Given the description of an element on the screen output the (x, y) to click on. 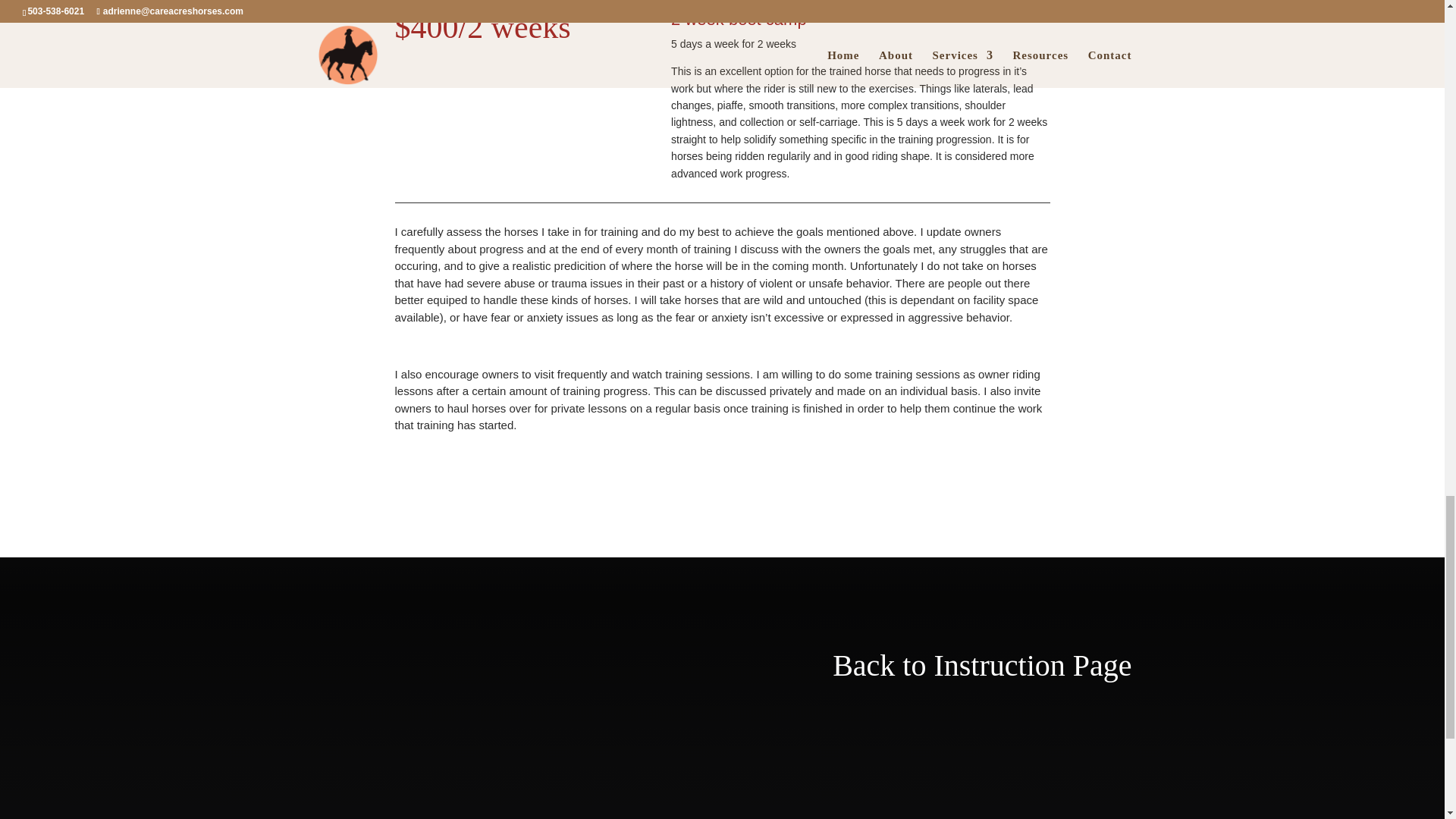
Back to Instruction Page (981, 665)
